Given the description of an element on the screen output the (x, y) to click on. 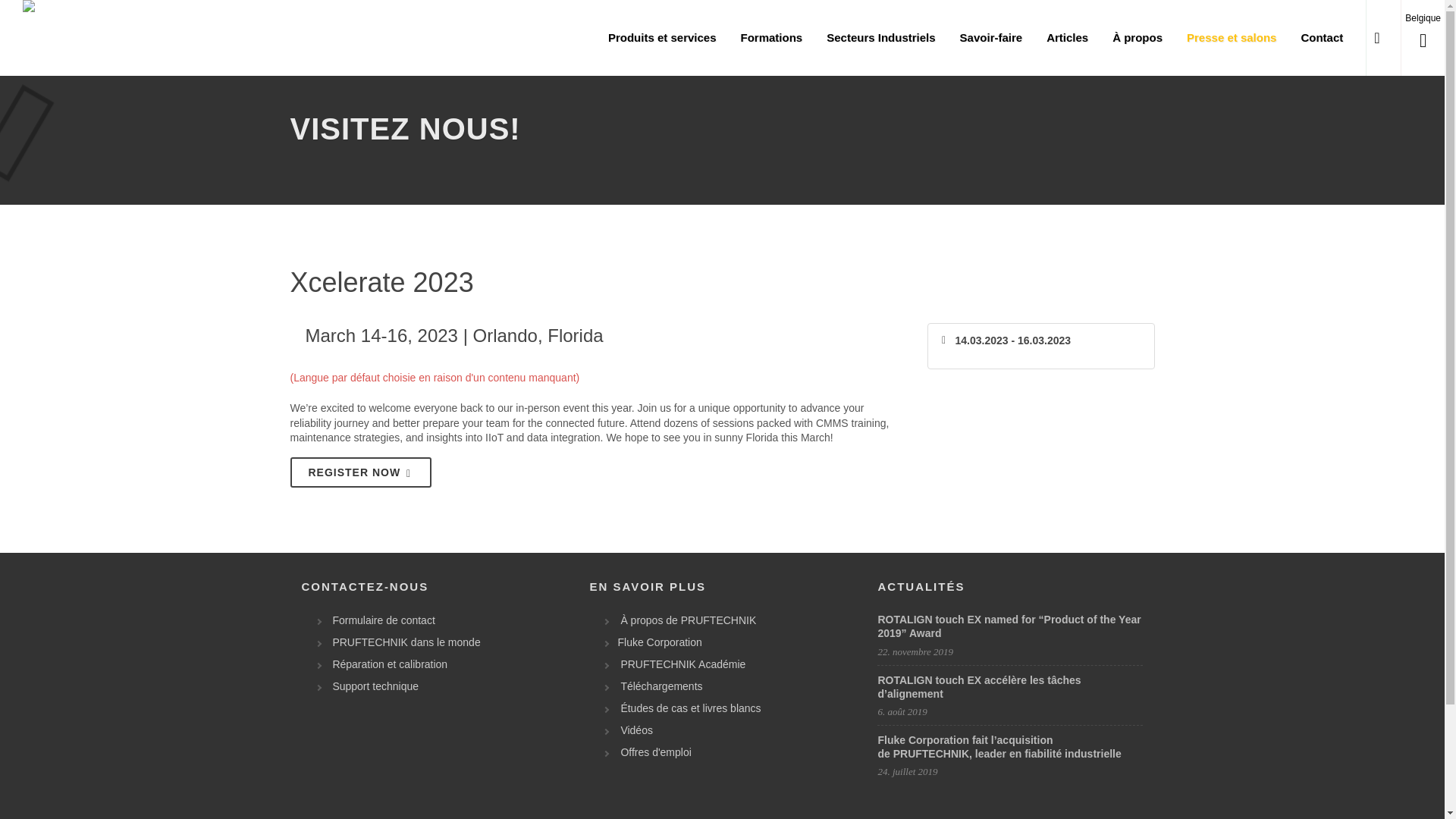
Formations (771, 38)
Formulaire de contact (379, 620)
Search (1383, 39)
Secteurs Industriels (880, 38)
PRUFTECHNIK dans le monde (402, 642)
Savoir-faire (991, 38)
Offres d'emploi (652, 752)
Produits et services (662, 38)
